Given the description of an element on the screen output the (x, y) to click on. 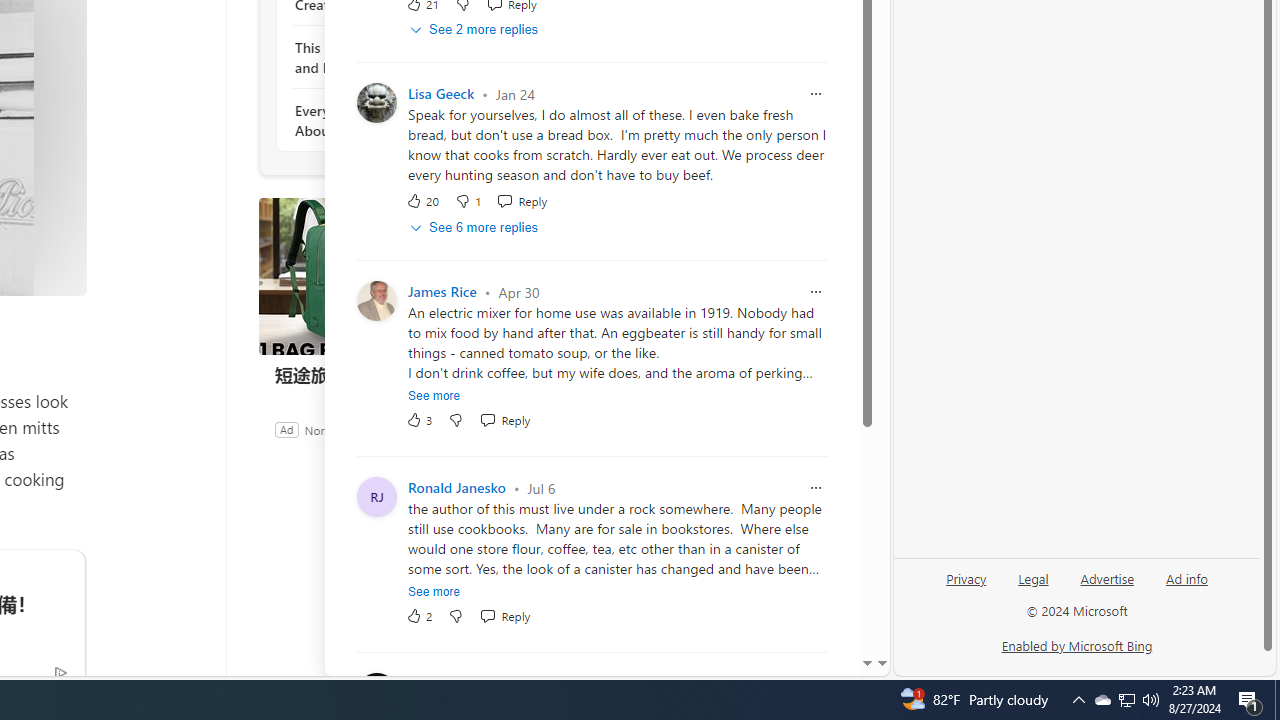
2 Like (419, 616)
Reply Reply Comment (505, 616)
See 2 more replies (475, 30)
James Rice (442, 292)
